Given the description of an element on the screen output the (x, y) to click on. 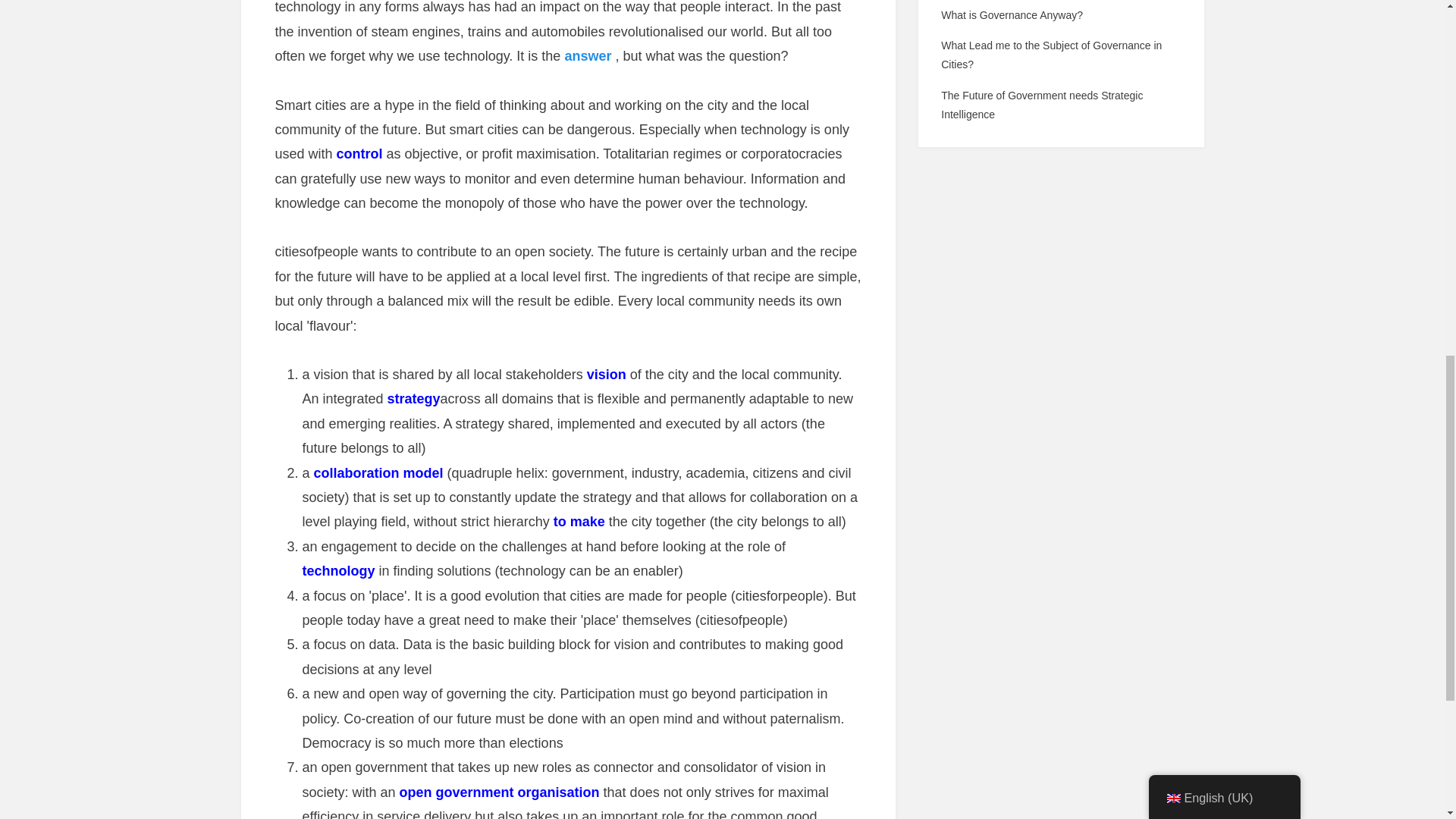
technology (337, 570)
open government organisation (498, 792)
to make (579, 521)
control (359, 153)
collaboration model (379, 473)
strategy (414, 398)
answer (587, 55)
vision (606, 374)
